Given the description of an element on the screen output the (x, y) to click on. 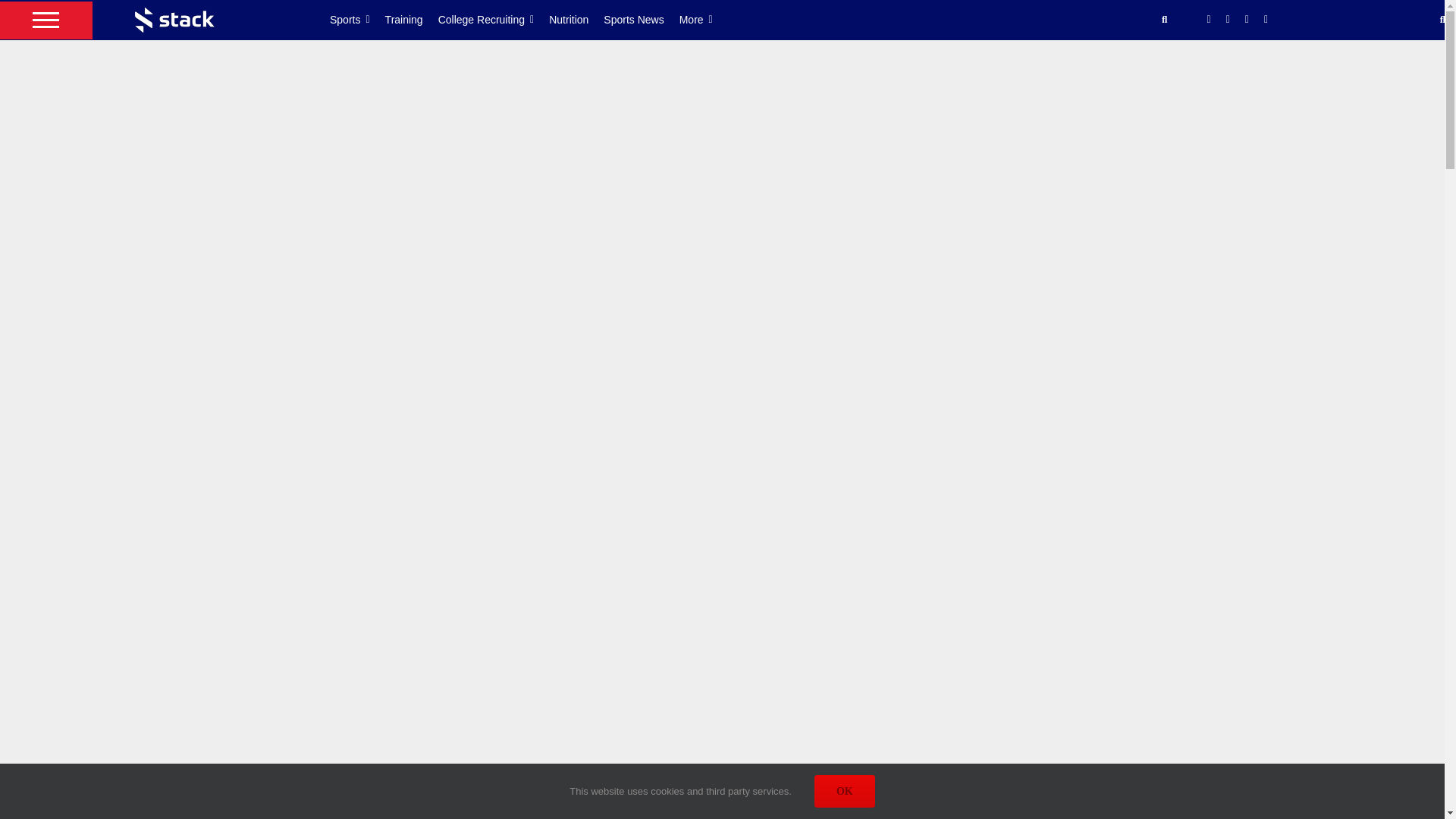
Sports News (641, 19)
Nutrition (576, 19)
More (703, 19)
Sports (357, 19)
College Recruiting (494, 19)
Training (411, 19)
